Given the description of an element on the screen output the (x, y) to click on. 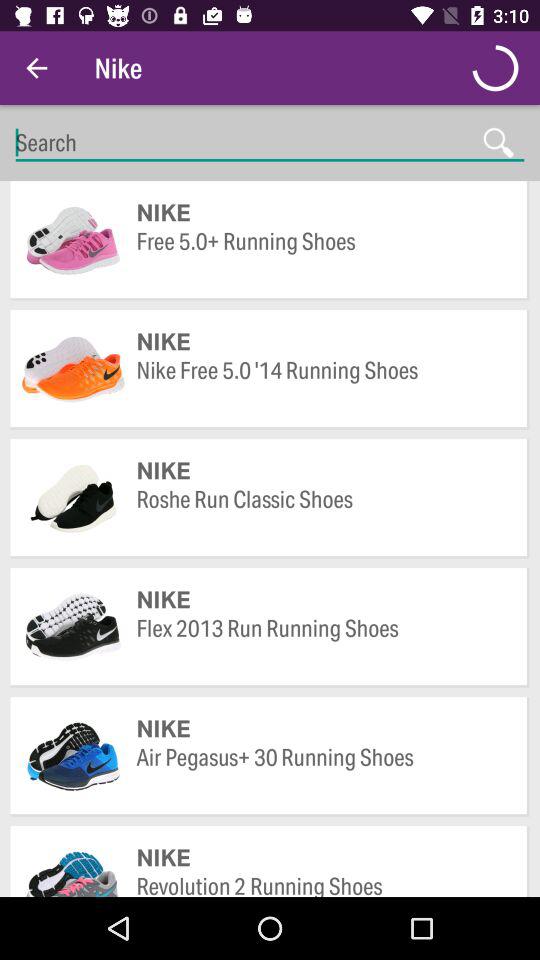
launch the icon below nike icon (322, 884)
